Given the description of an element on the screen output the (x, y) to click on. 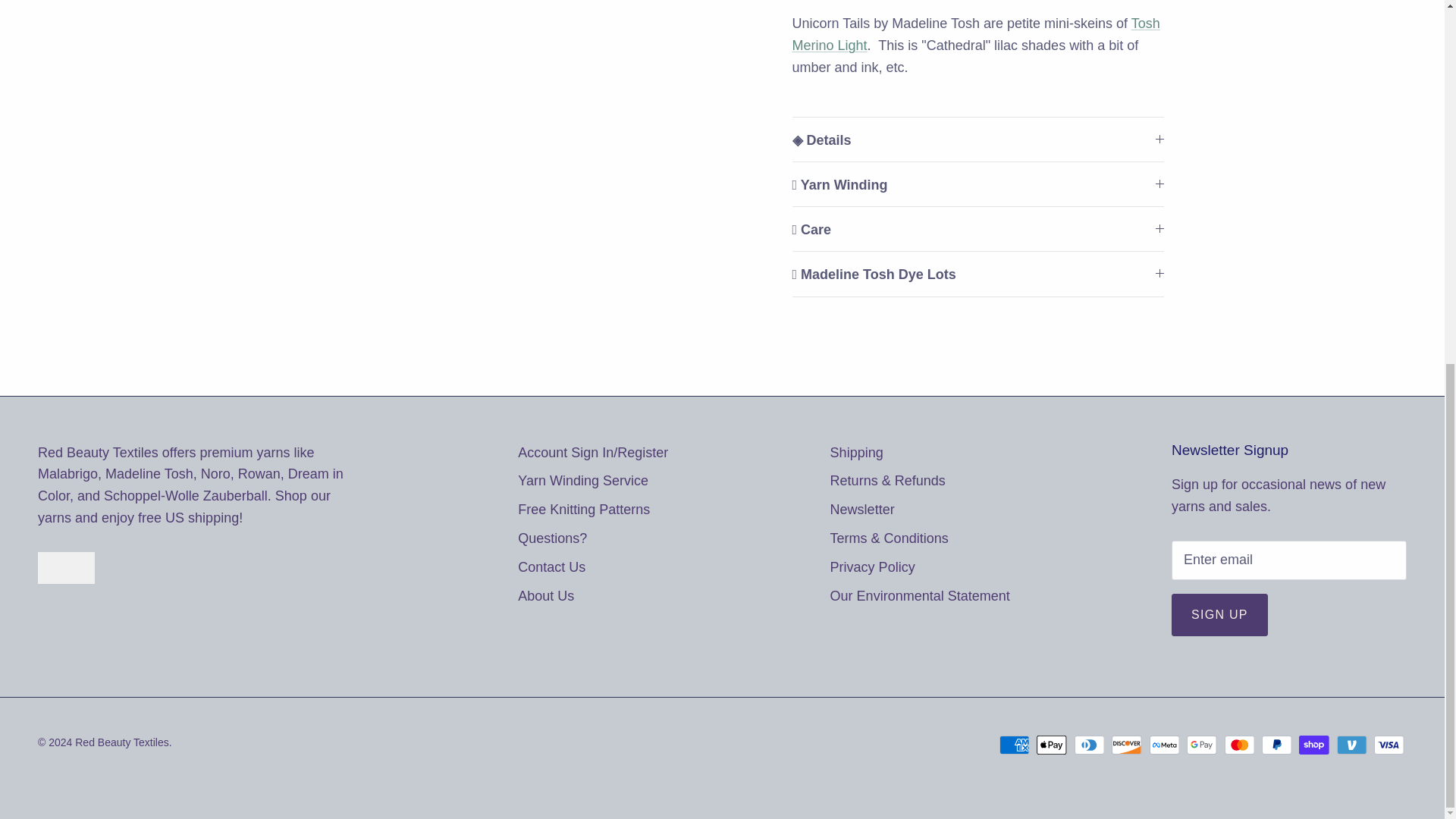
Apple Pay (1051, 744)
Visa (1388, 744)
Venmo (1351, 744)
American Express (1013, 744)
Mastercard (1239, 744)
PayPal (1276, 744)
Meta Pay (1164, 744)
Discover (1126, 744)
Google Pay (1201, 744)
Diners Club (1089, 744)
Shop Pay (1313, 744)
